Given the description of an element on the screen output the (x, y) to click on. 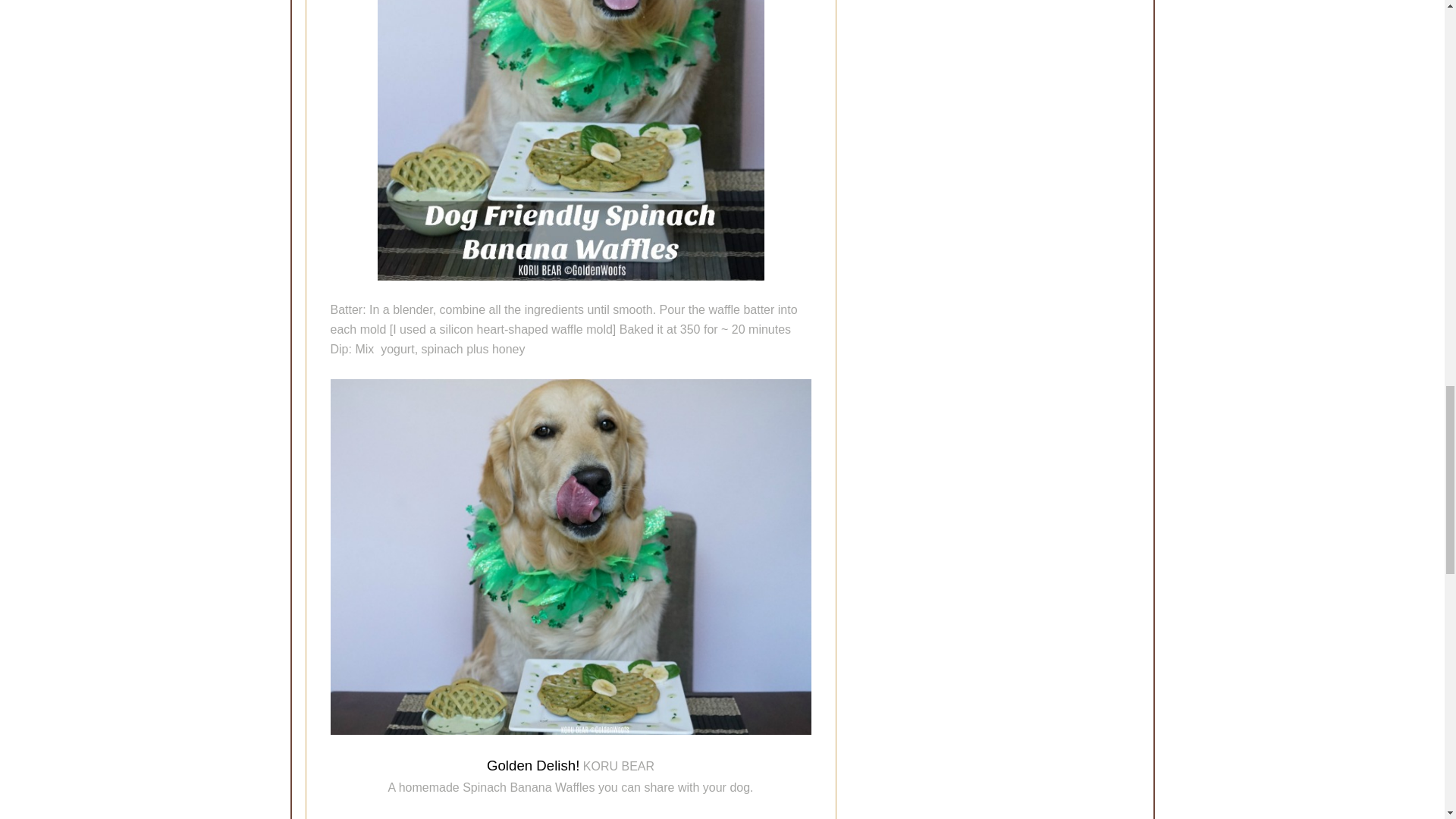
Dog Friendly Spinach Banana Waffles (570, 140)
